Given the description of an element on the screen output the (x, y) to click on. 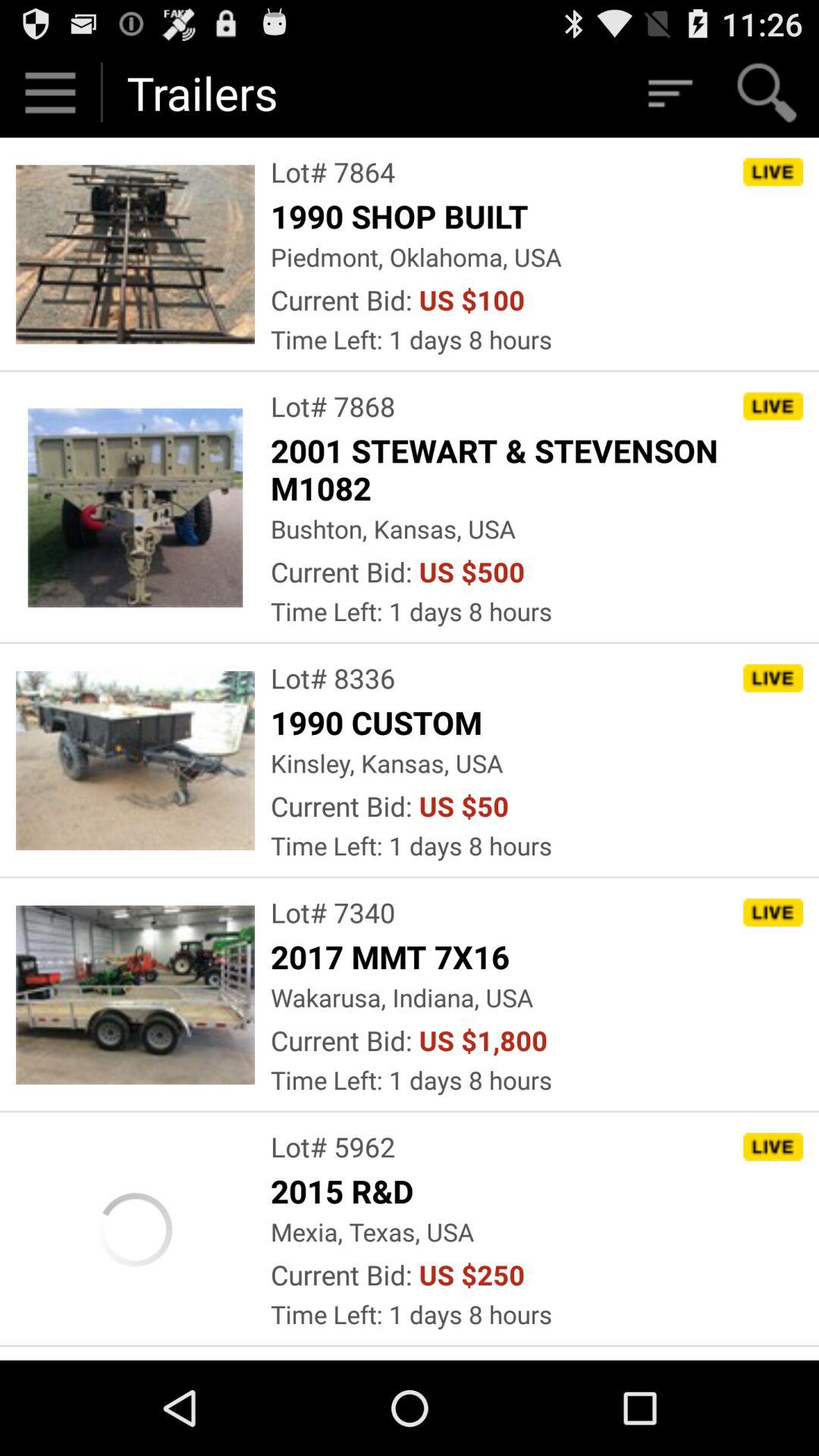
refine search results (668, 92)
